Given the description of an element on the screen output the (x, y) to click on. 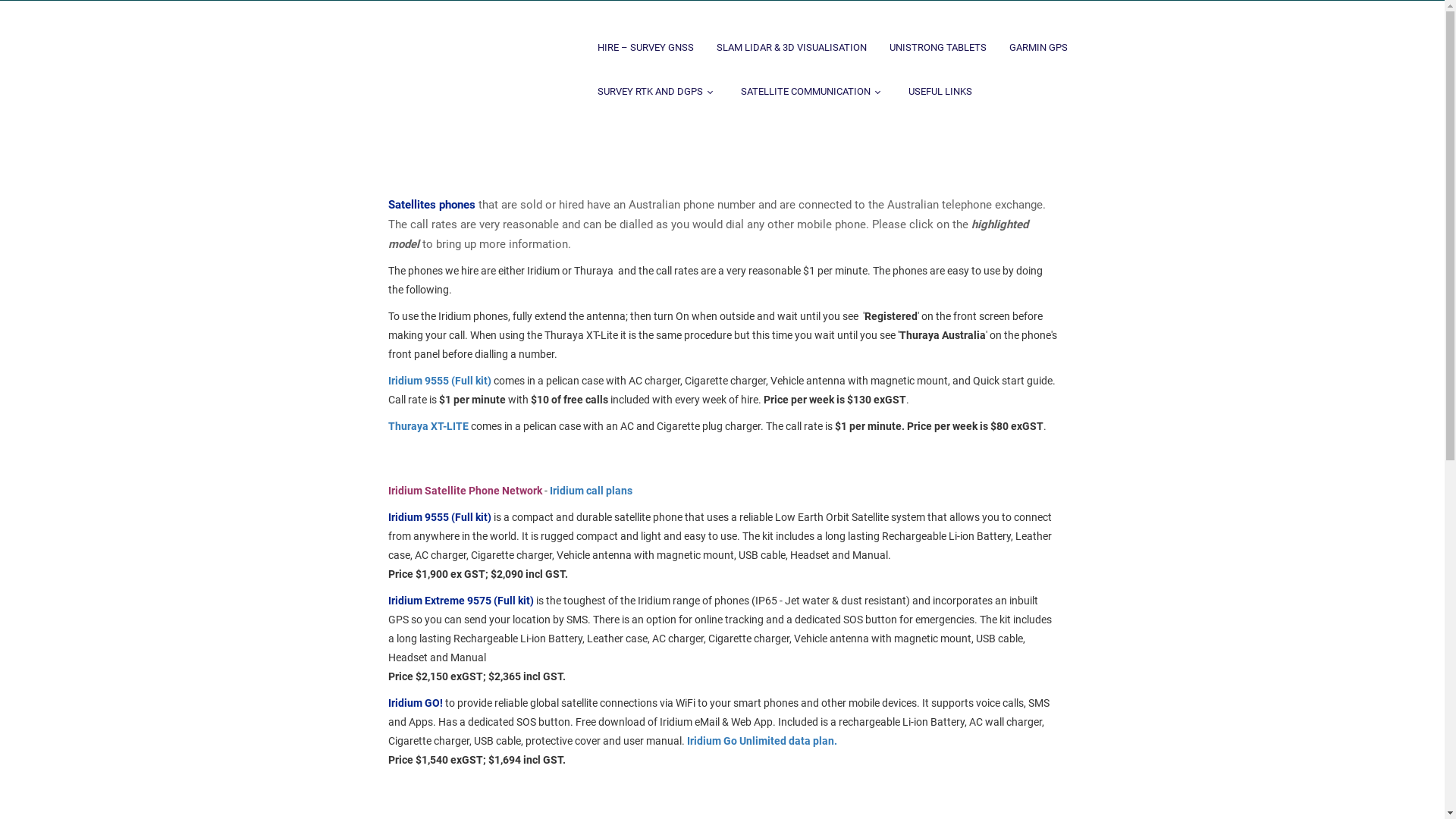
UNISTRONG TABLETS Element type: text (937, 41)
GARMIN GPS Element type: text (1038, 41)
Iridium GO! Element type: text (415, 702)
Iridium call plans Element type: text (590, 490)
Iridium 9555 (Full kit) Element type: text (439, 517)
USEFUL LINKS Element type: text (939, 85)
SATELLITE COMMUNICATION Element type: text (813, 85)
SURVEY RTK AND DGPS Element type: text (657, 85)
Iridium 9555 (Full kit) Element type: text (439, 380)
Iridium Go Unlimited data plan. Element type: text (762, 740)
SLAM LIDAR & 3D VISUALISATION Element type: text (791, 41)
Iridium Extreme 9575 (Full kit) Element type: text (460, 600)
Thuraya XT-LITE Element type: text (428, 426)
